Given the description of an element on the screen output the (x, y) to click on. 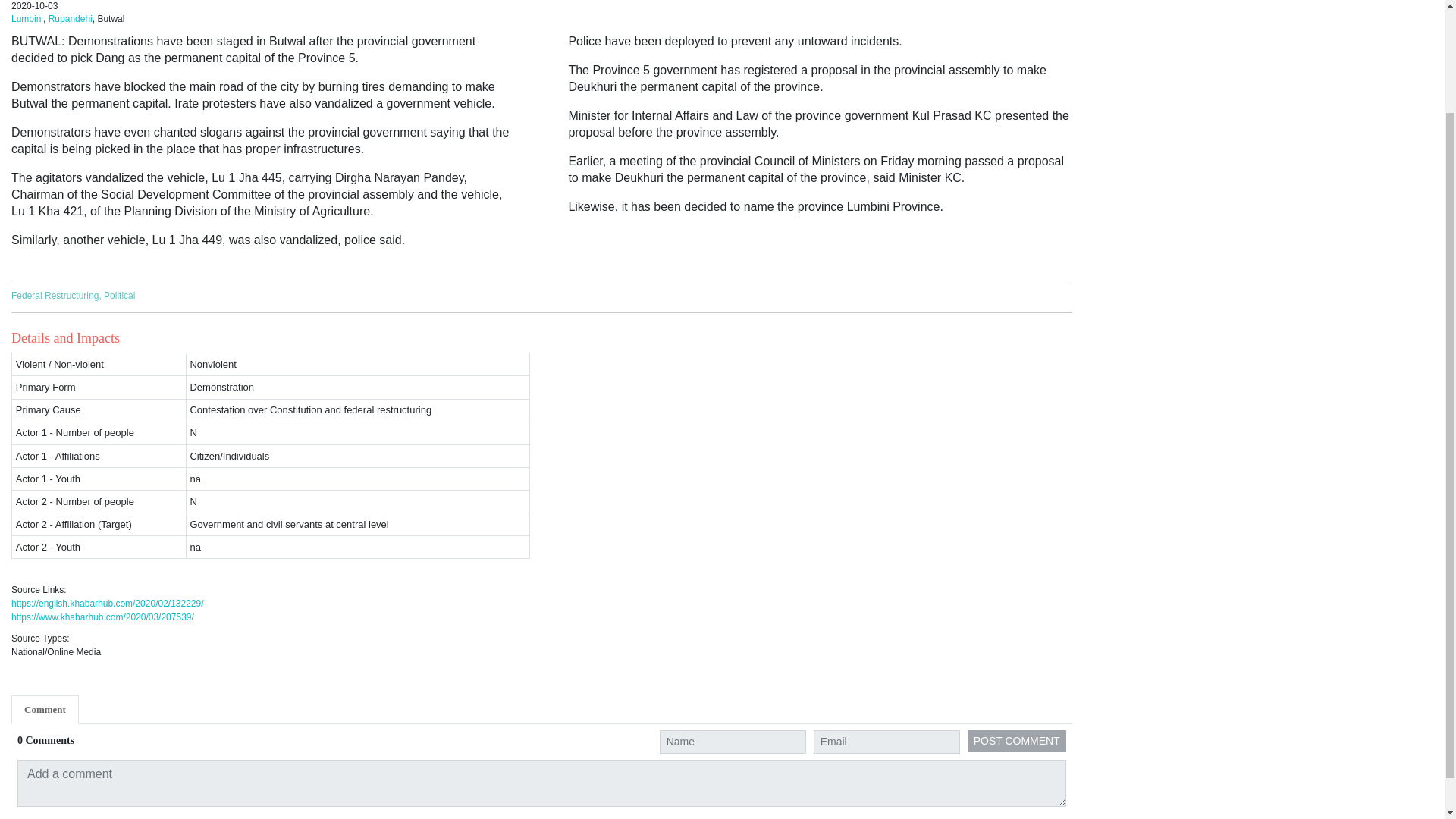
Lumbini (27, 18)
Federal Restructuring, (57, 295)
Comment (44, 709)
Political (119, 295)
Rupandehi (70, 18)
POST COMMENT (1016, 741)
